Given the description of an element on the screen output the (x, y) to click on. 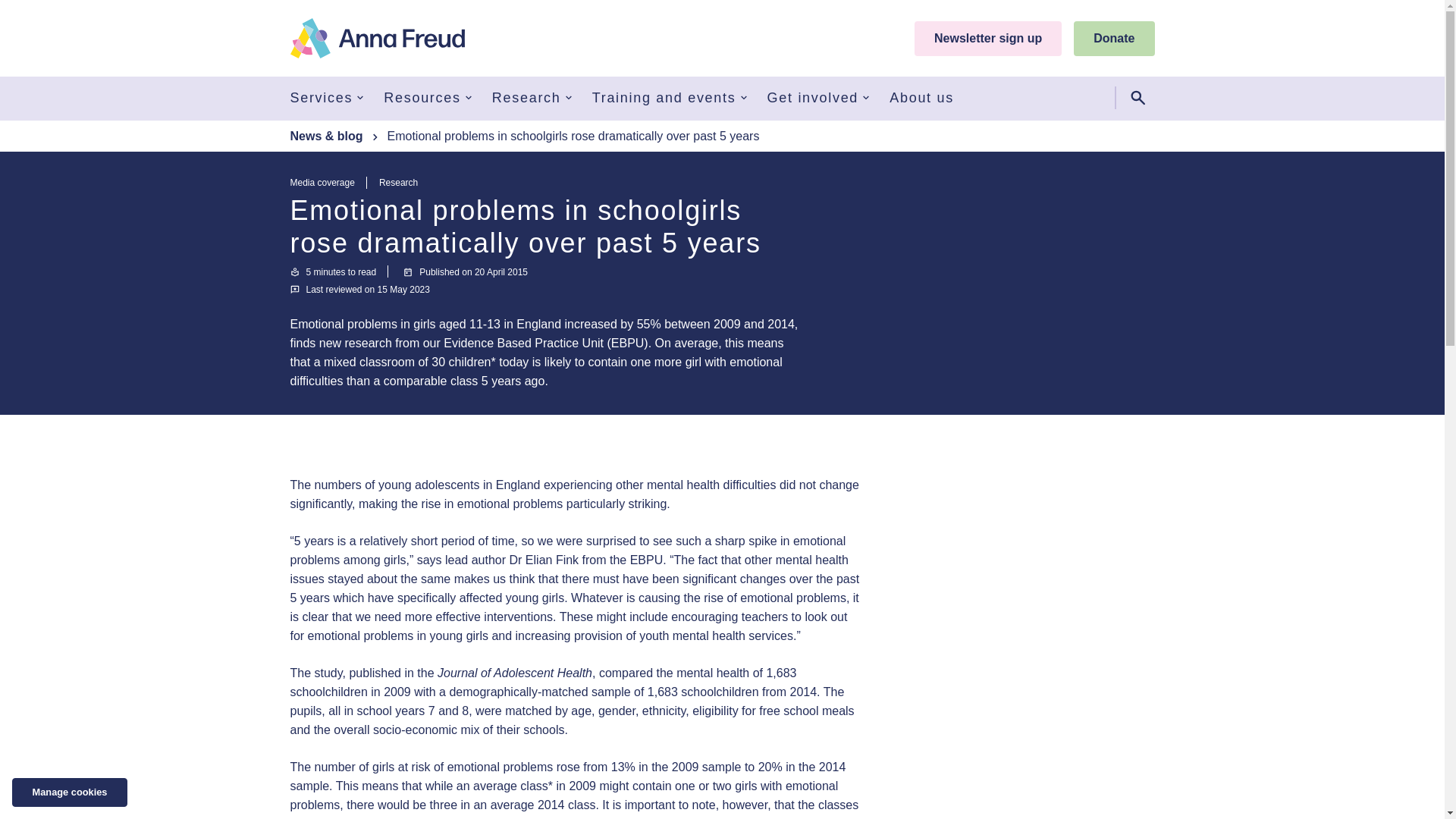
Anna Freud (376, 38)
Services (327, 97)
Research (532, 97)
Resources (429, 97)
Donate (1114, 38)
Manage cookies (69, 792)
Newsletter sign up (987, 38)
